Given the description of an element on the screen output the (x, y) to click on. 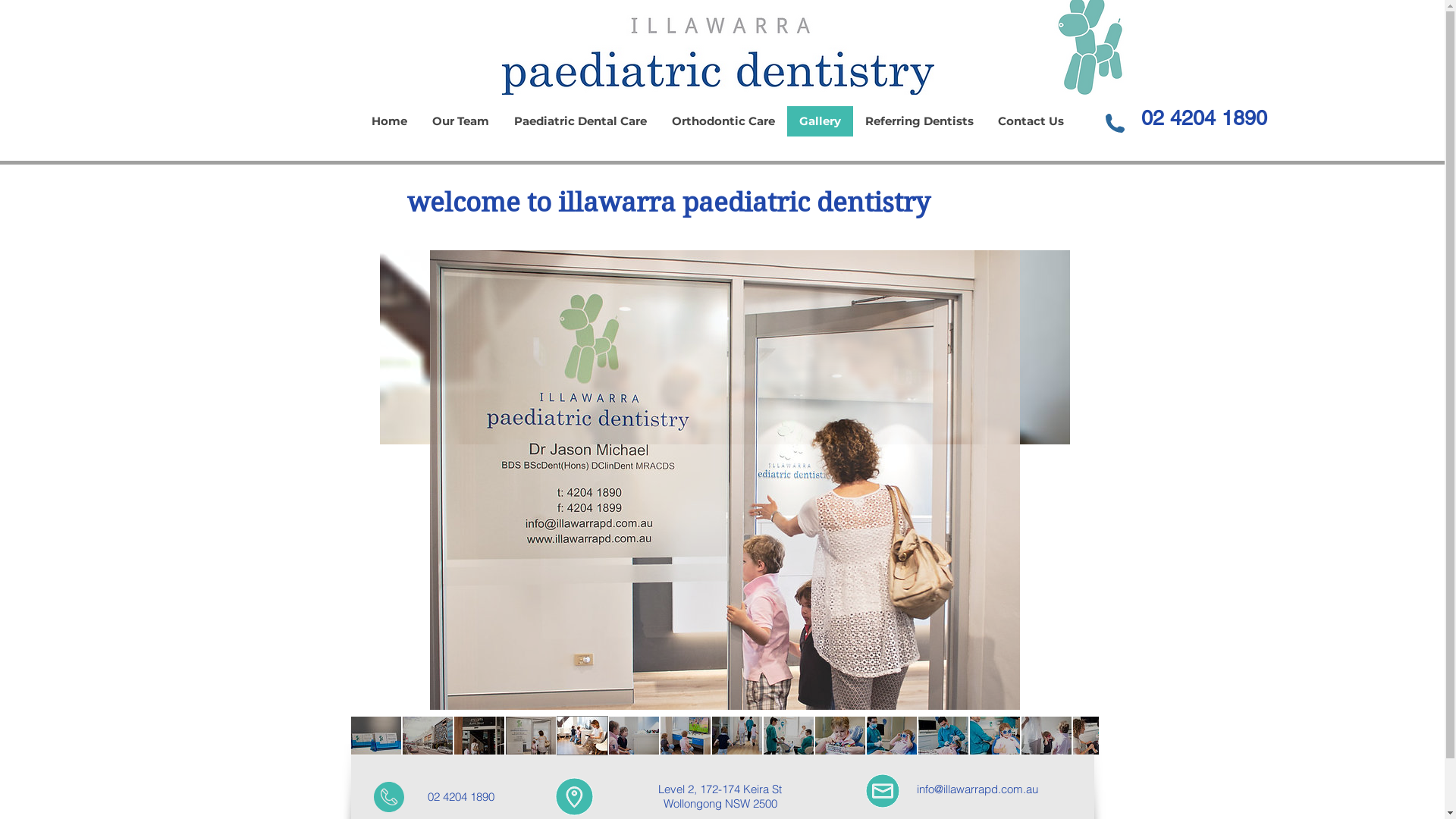
Home Element type: text (389, 121)
Orthodontic Care Element type: text (722, 121)
info@illawarrapd.com.au Element type: text (976, 788)
Our Team Element type: text (459, 121)
Paediatric Dental Care Element type: text (579, 121)
Gallery Element type: text (820, 121)
Contact Us Element type: text (1030, 121)
Referring Dentists Element type: text (918, 121)
